Given the description of an element on the screen output the (x, y) to click on. 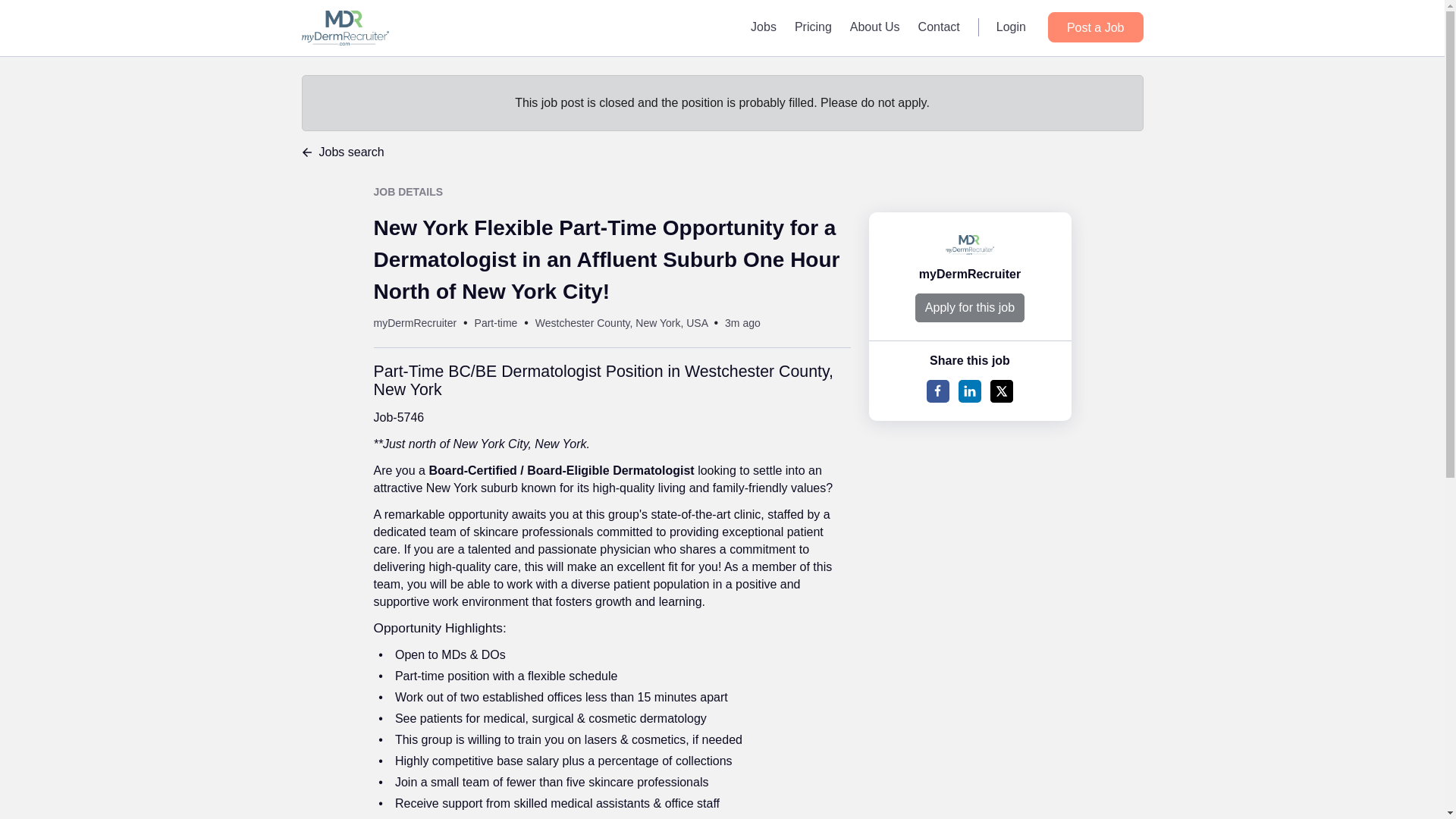
Jobs search (721, 152)
Post a Job (1095, 27)
myDermRecruiter (414, 322)
Share to Twitter (1001, 391)
Share to Linkedin (969, 391)
About Us (874, 26)
Part-time (496, 322)
Pricing (813, 26)
myDermRecruiter (969, 273)
Apply for this job (970, 307)
Share to FB (937, 391)
Jobs (763, 26)
Contact (938, 26)
Login (1011, 26)
